Given the description of an element on the screen output the (x, y) to click on. 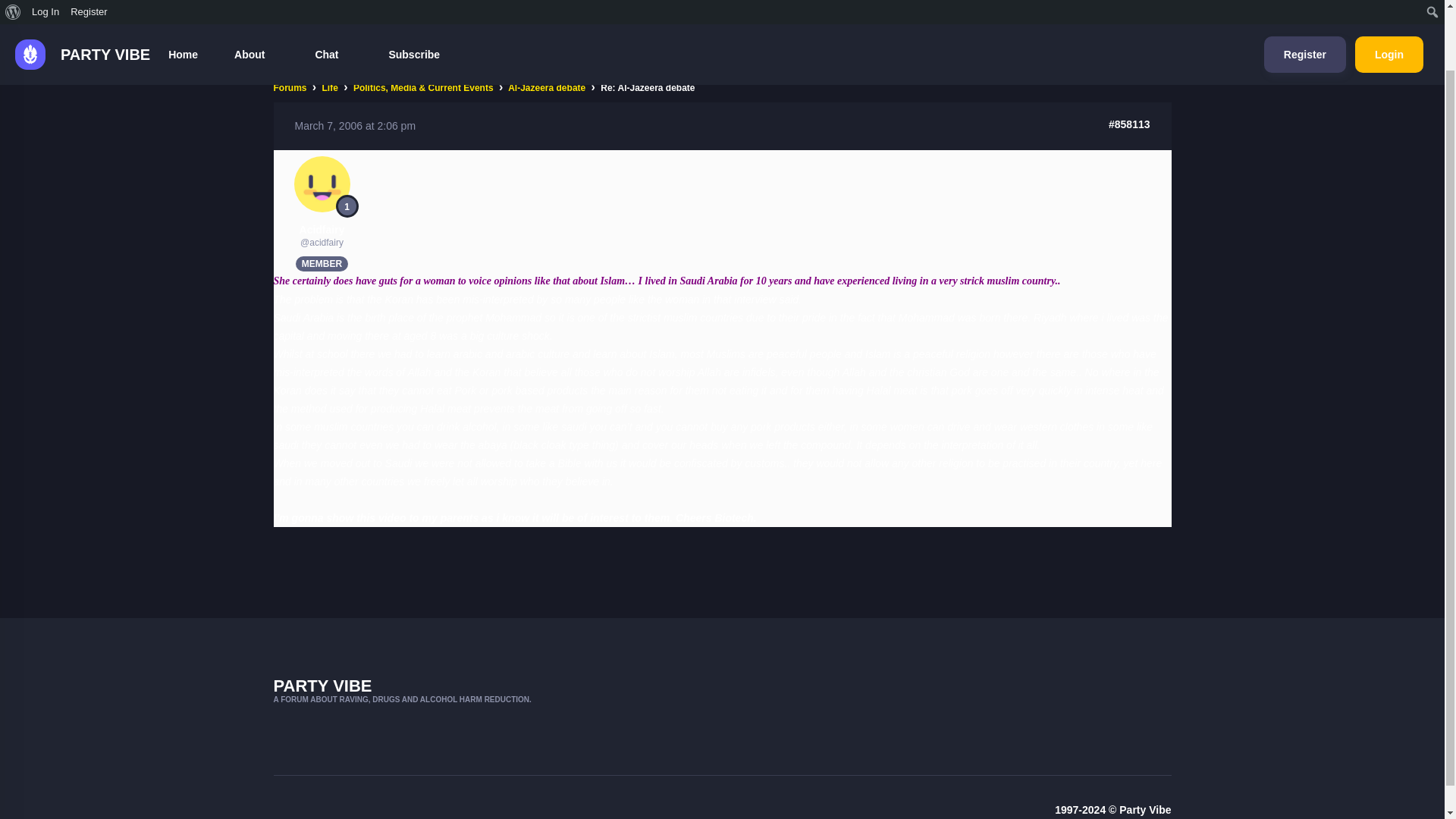
Home (182, 8)
About (256, 8)
Chat (333, 8)
